Given the description of an element on the screen output the (x, y) to click on. 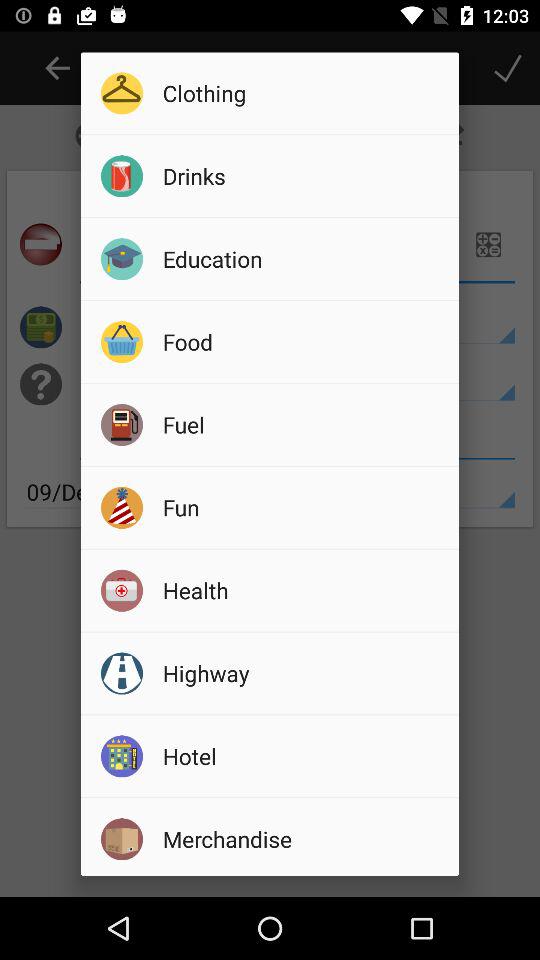
press clothing icon (303, 92)
